Given the description of an element on the screen output the (x, y) to click on. 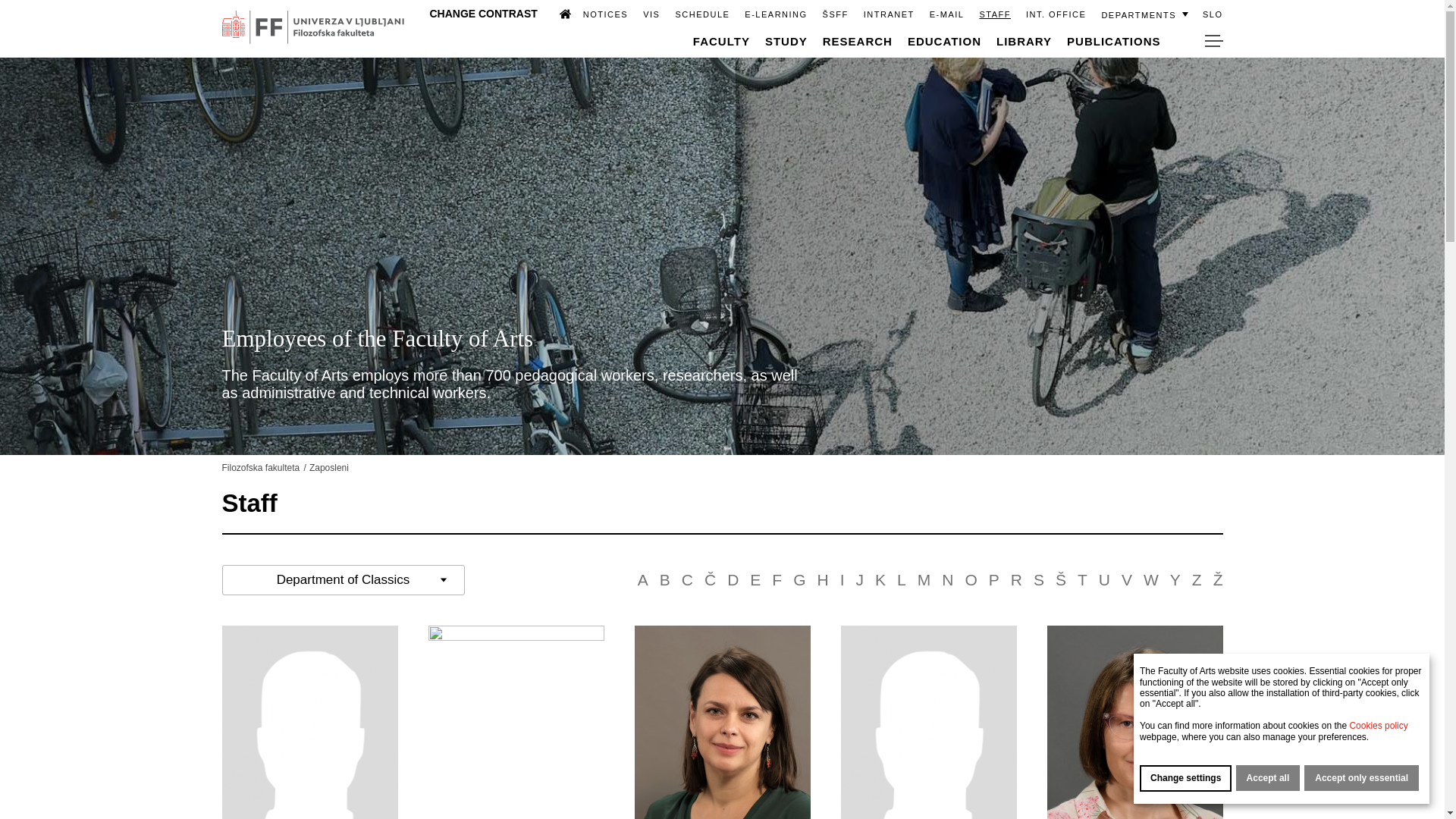
FACULTY (721, 41)
E-LEARNING (775, 13)
STUDY (786, 41)
NOTICES (605, 13)
INT. OFFICE (1056, 13)
SLO (1212, 13)
ff.uni-lj.si (312, 27)
INTRANET (888, 13)
HOME (558, 13)
